Given the description of an element on the screen output the (x, y) to click on. 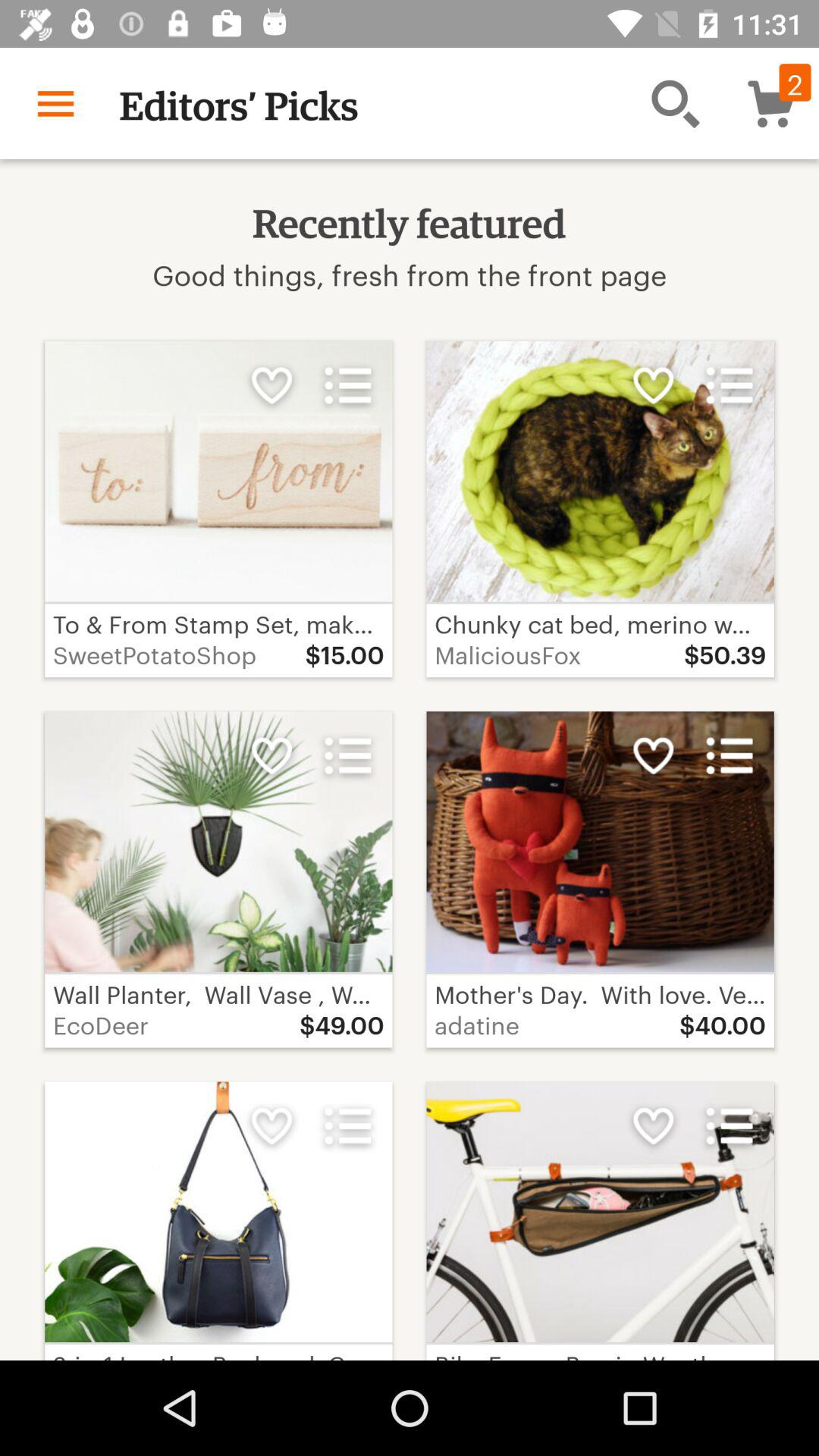
click the search icon (675, 103)
go to the fifth image (219, 1211)
select the first image below the menu bar (219, 471)
select the more option which is below 4900 (347, 1125)
